Given the description of an element on the screen output the (x, y) to click on. 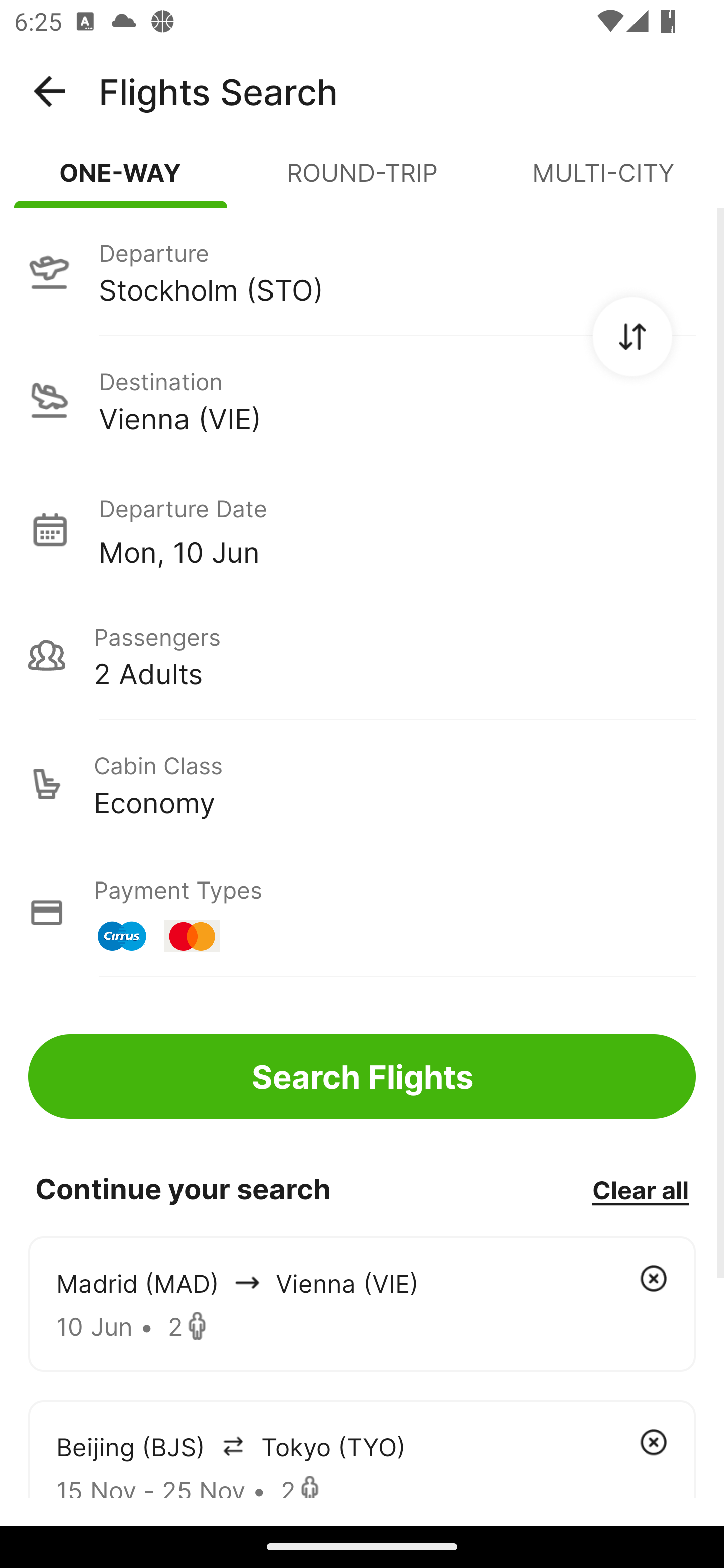
ONE-WAY (120, 180)
ROUND-TRIP (361, 180)
MULTI-CITY (603, 180)
Departure Stockholm (STO) (362, 270)
Destination Vienna (VIE) (362, 400)
Departure Date Mon, 10 Jun (396, 528)
Passengers 2 Adults (362, 655)
Cabin Class Economy (362, 783)
Payment Types (362, 912)
Search Flights (361, 1075)
Clear all (640, 1189)
Madrid (MAD)  arrowIcon  Vienna (VIE) 10 Jun •  2  (361, 1303)
